Given the description of an element on the screen output the (x, y) to click on. 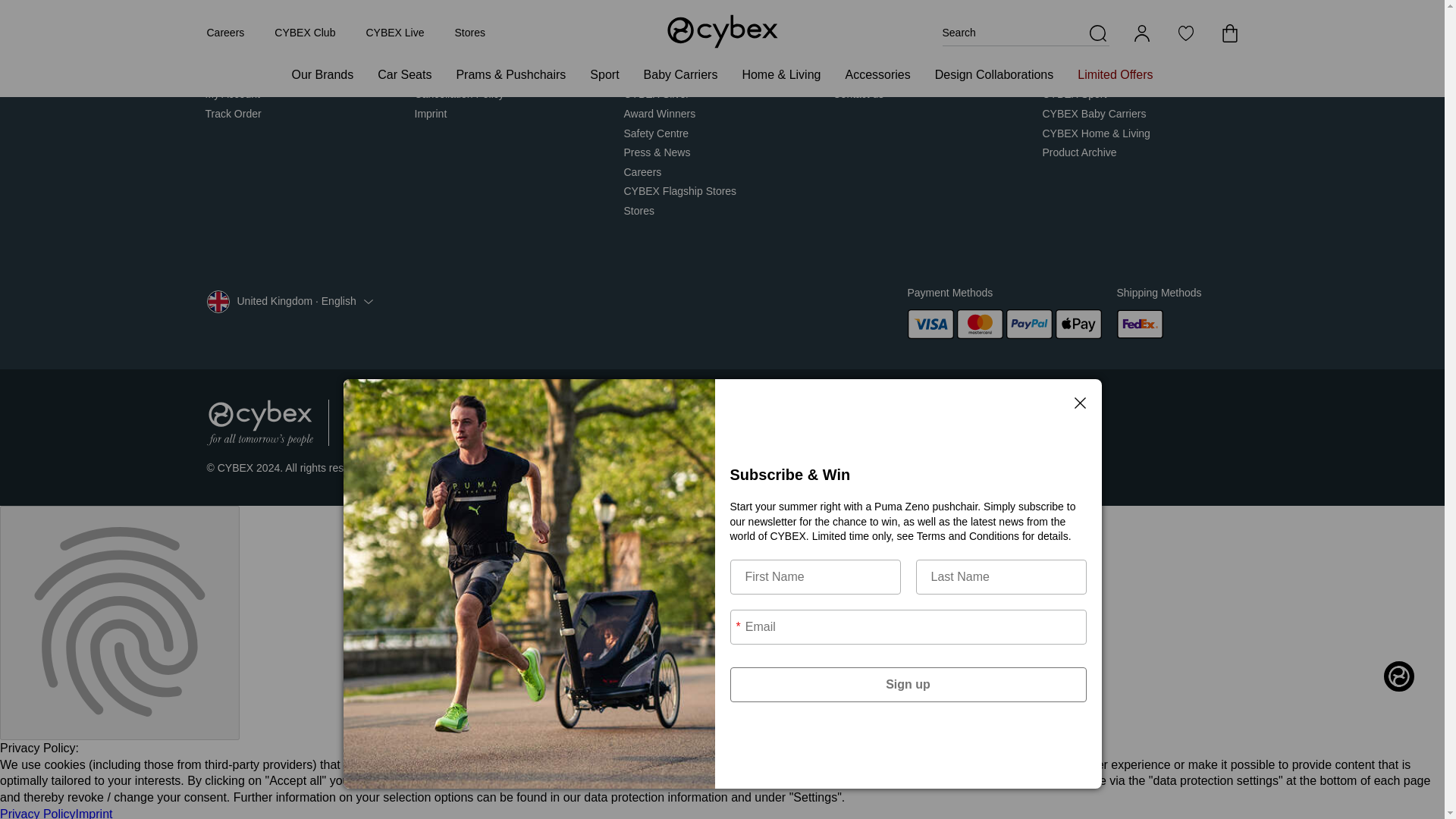
CYBEX for all tomorrow's people (259, 422)
